Given the description of an element on the screen output the (x, y) to click on. 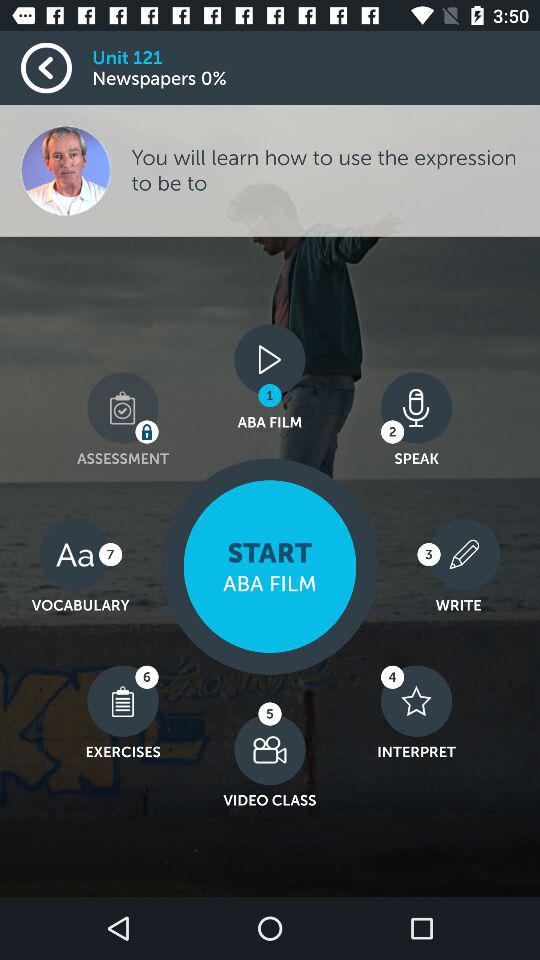
play the film (269, 566)
